Given the description of an element on the screen output the (x, y) to click on. 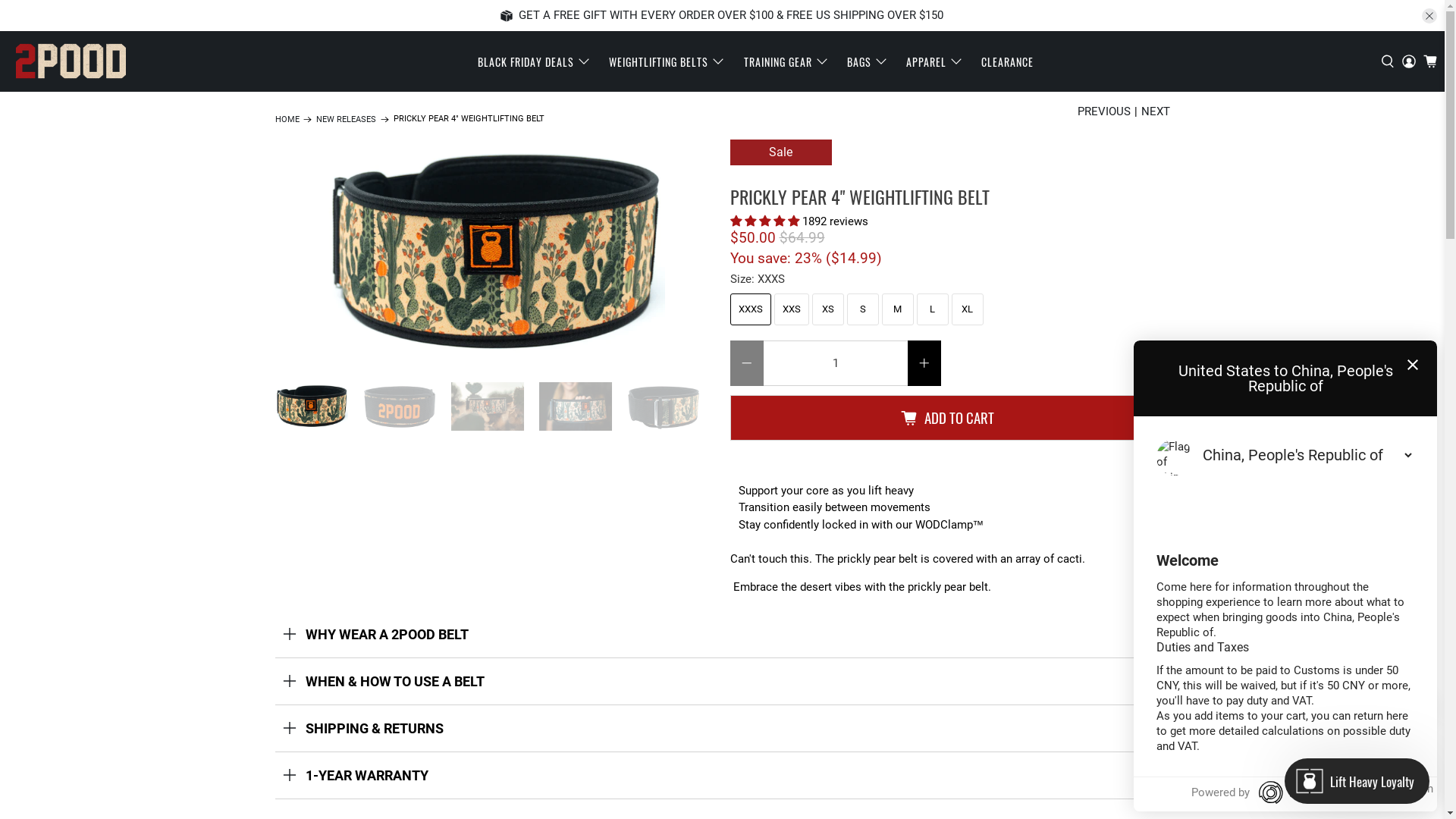
HOME Element type: text (286, 119)
1-YEAR WARRANTY Element type: text (721, 775)
PREVIOUS Element type: text (1102, 111)
TRAINING GEAR Element type: text (785, 61)
WEIGHTLIFTING BELTS Element type: text (667, 61)
WHEN & HOW TO USE A BELT Element type: text (721, 681)
Prickly Pear 4" Weightlifting Belt - 2POOD Element type: hover (494, 253)
BLACK FRIDAY DEALS Element type: text (534, 61)
2POOD Element type: hover (70, 61)
SHIPPING & RETURNS Element type: text (721, 728)
WHY WEAR A 2POOD BELT Element type: text (721, 634)
Open Zonos Hello Element type: hover (1411, 750)
APPAREL Element type: text (934, 61)
CLEARANCE Element type: text (1007, 61)
NEW RELEASES Element type: text (346, 119)
Lift Heavy Loyalty Element type: text (1356, 780)
ADD TO CART Element type: text (949, 417)
NEXT Element type: text (1154, 111)
BAGS Element type: text (867, 61)
